Given the description of an element on the screen output the (x, y) to click on. 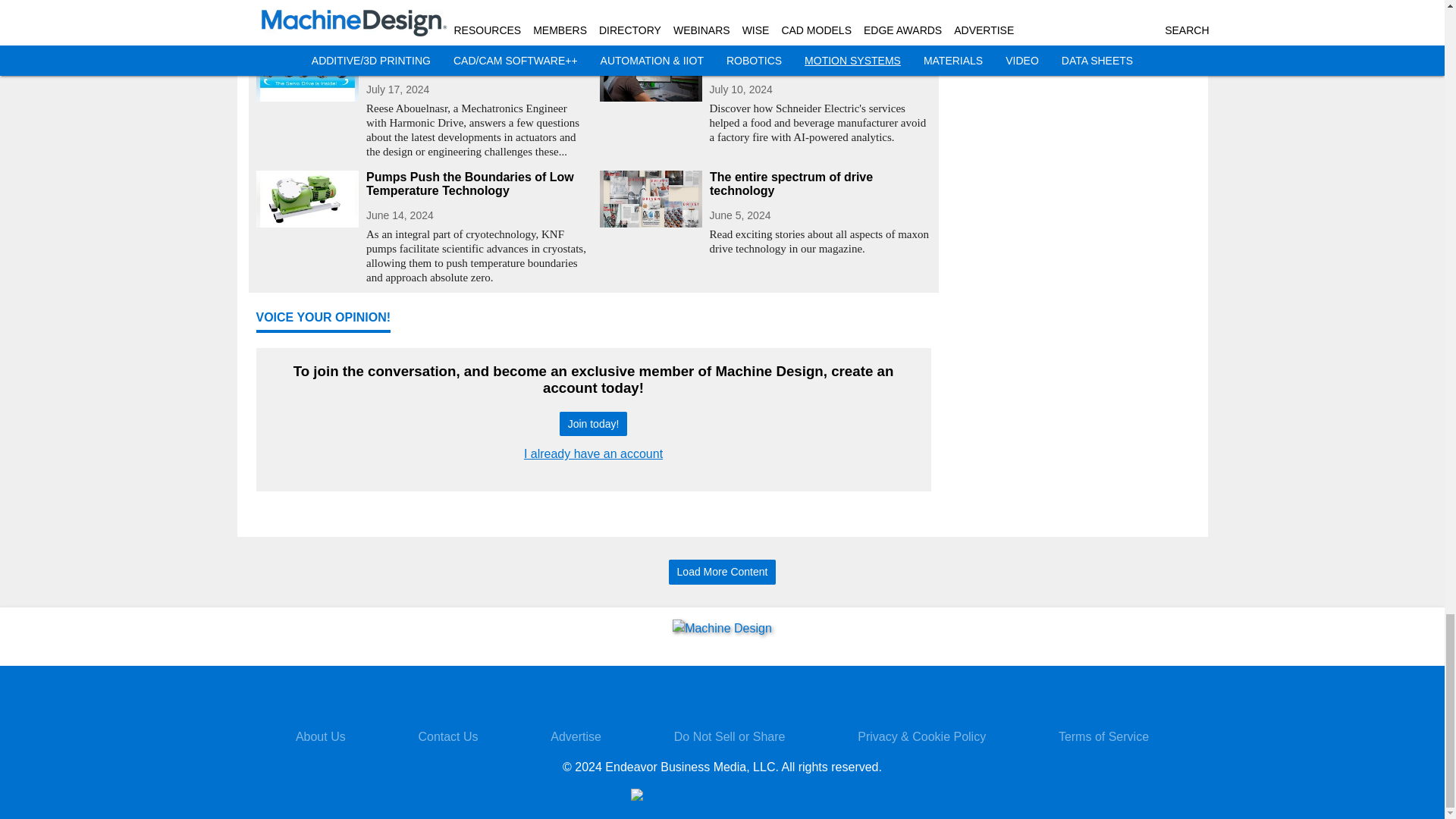
Join today! (593, 423)
Pumps Push the Boundaries of Low Temperature Technology (476, 184)
The entire spectrum of drive technology (820, 184)
How to Build Better Robotics with Integrated Actuators (476, 58)
